Given the description of an element on the screen output the (x, y) to click on. 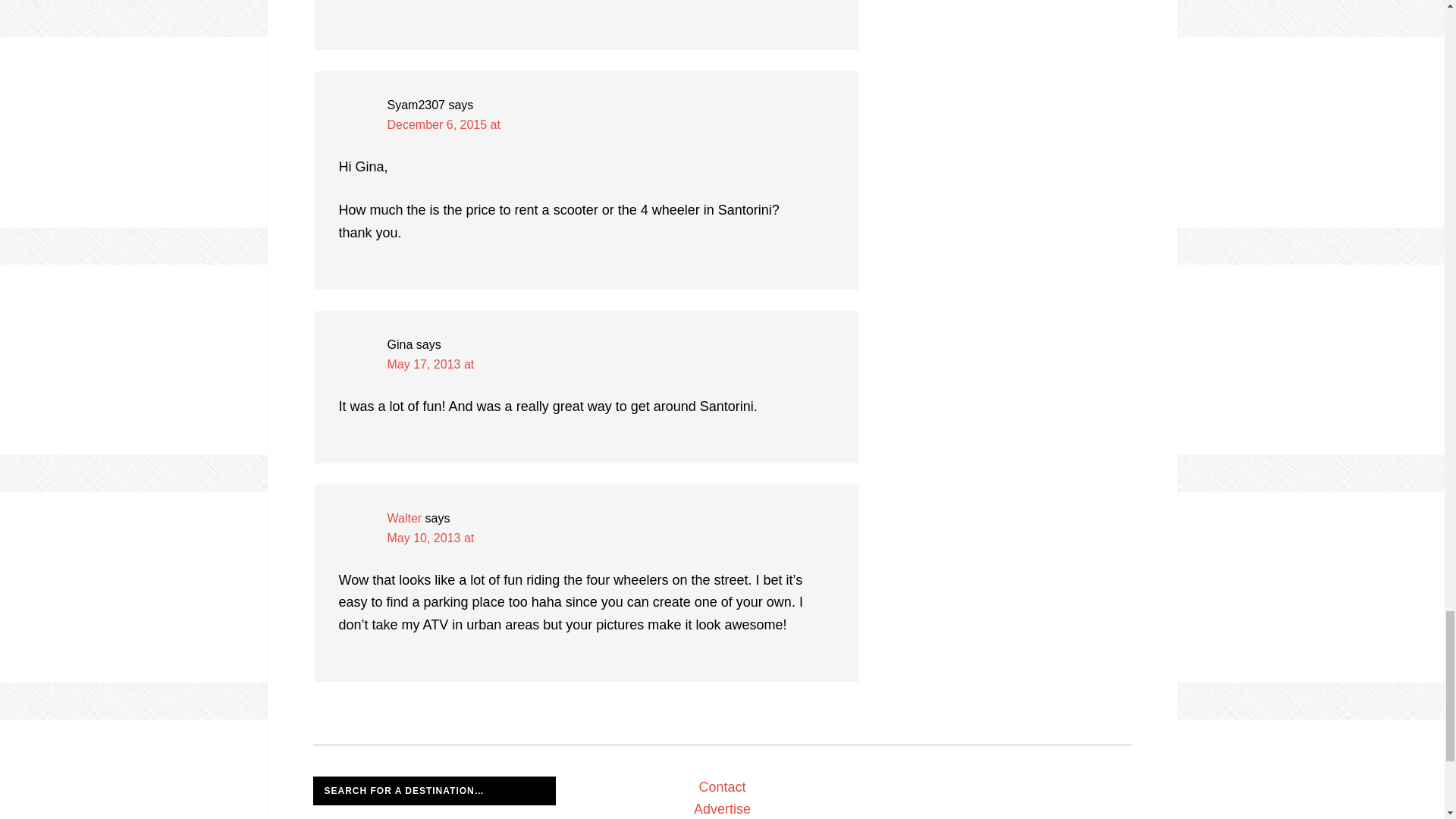
Advertise (722, 808)
Contact (721, 786)
